Given the description of an element on the screen output the (x, y) to click on. 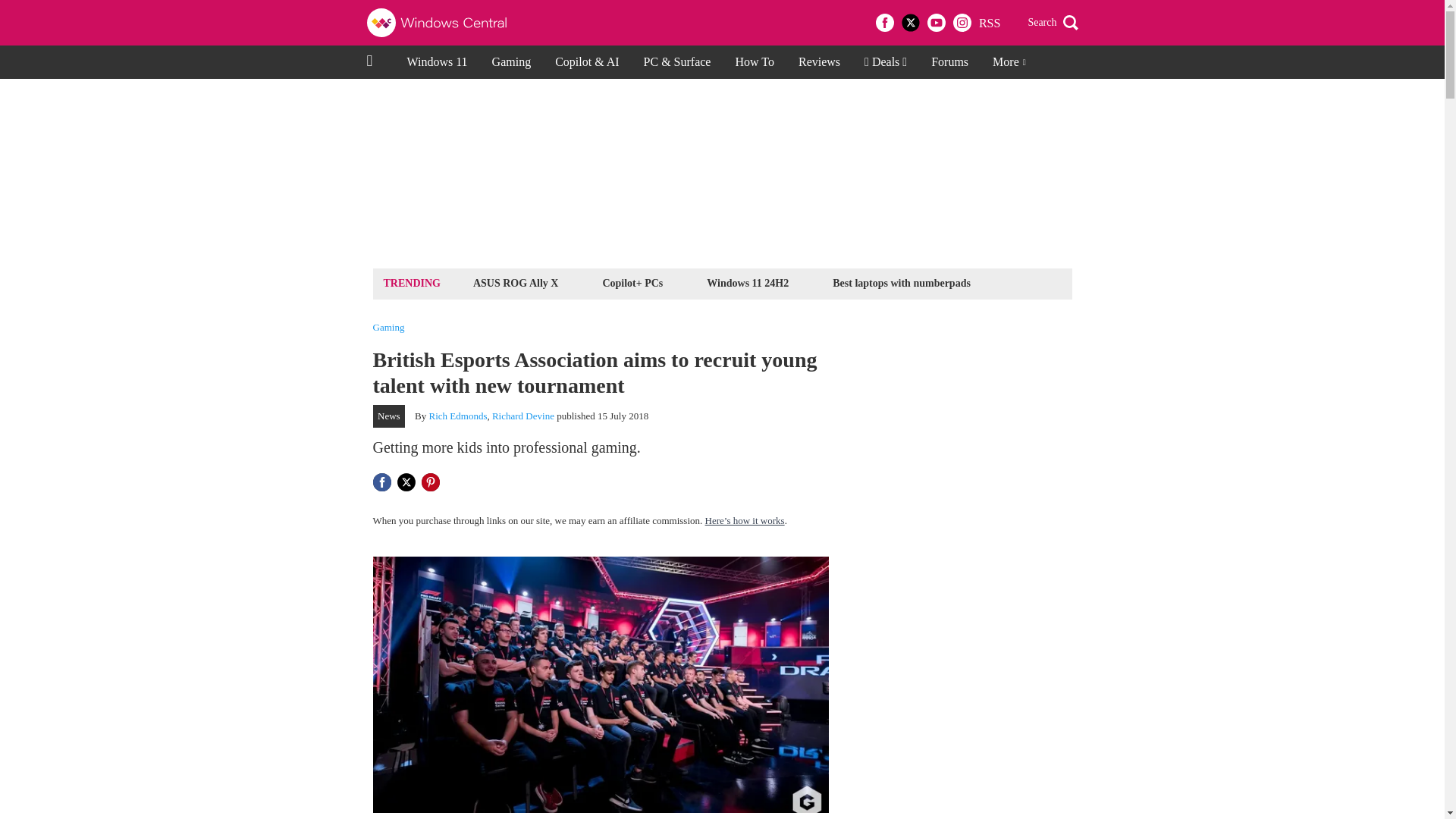
Reviews (818, 61)
ASUS ROG Ally X (515, 282)
Windows 11 24H2 (747, 282)
Best laptops with numberpads (901, 282)
Rich Edmonds (458, 415)
Gaming (388, 327)
Windows 11 (436, 61)
Gaming (511, 61)
Forums (948, 61)
Richard Devine (523, 415)
News (389, 415)
How To (754, 61)
RSS (989, 22)
